Given the description of an element on the screen output the (x, y) to click on. 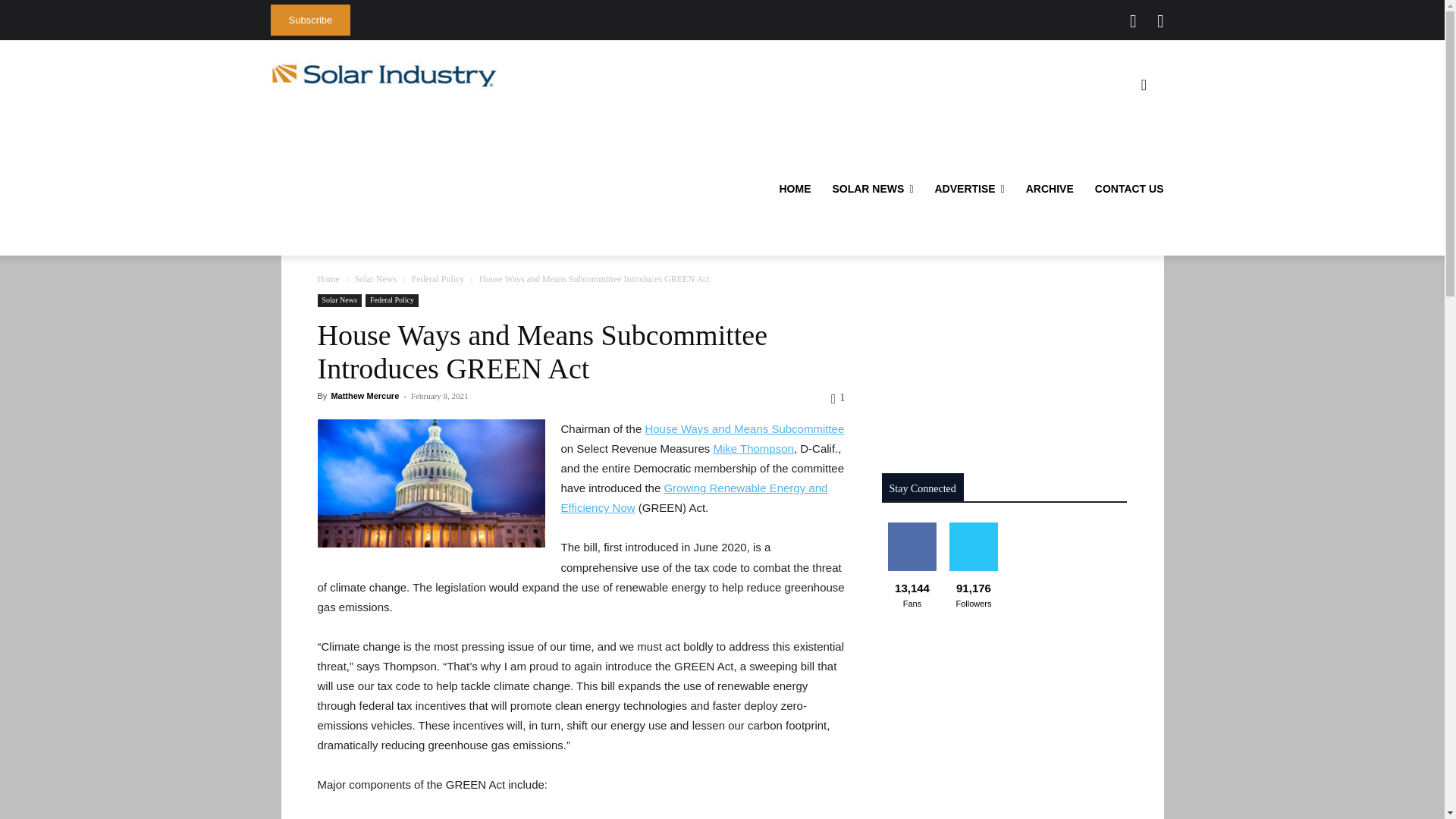
Rss (1160, 21)
Solar Industry (383, 75)
Subscribe (309, 20)
Subscribe (309, 20)
Twitter (1133, 21)
